Given the description of an element on the screen output the (x, y) to click on. 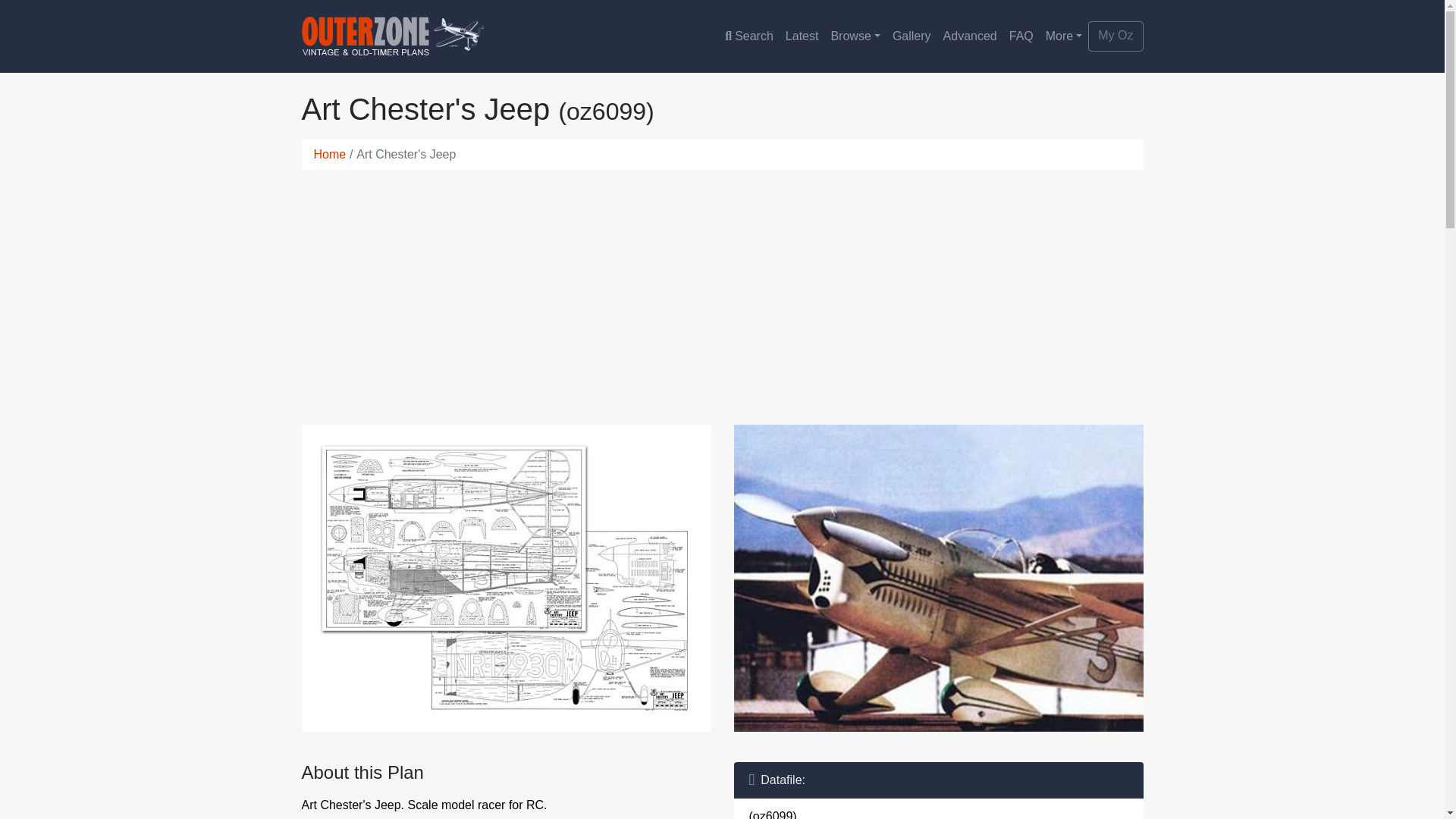
My Oz (1114, 36)
Latest (801, 36)
Advanced (970, 36)
Gallery (911, 36)
More (1064, 36)
Browse (854, 36)
Search (748, 36)
Home (330, 154)
FAQ (1021, 36)
